Given the description of an element on the screen output the (x, y) to click on. 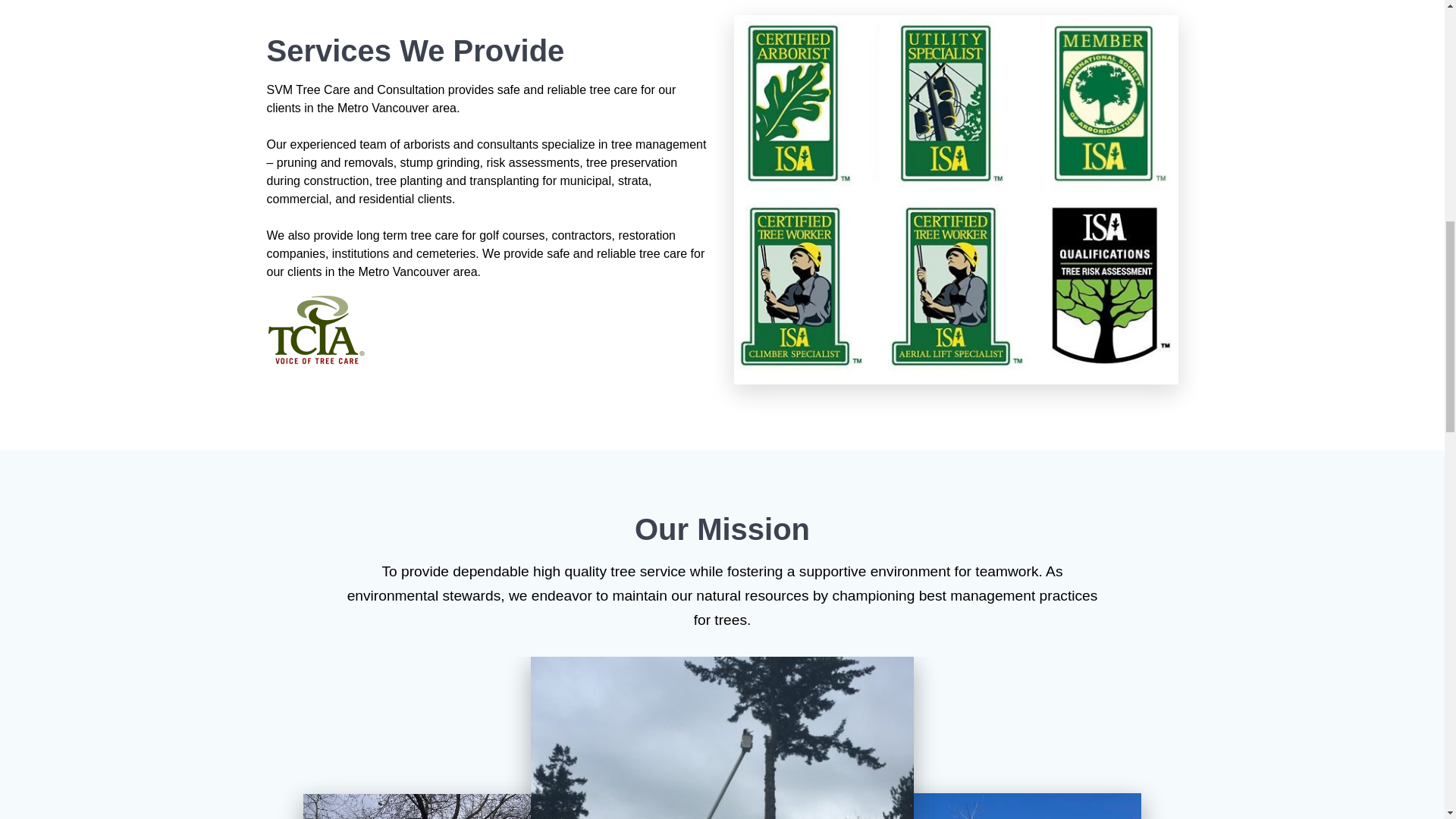
TCIA logo (315, 329)
cropped-SVM-Tree-Care-13.jpg (722, 737)
cropped-SVM-Tree-Care-9-4.jpg (462, 806)
cropped-SVM-Tree-Care-8-1.jpg (981, 806)
